Given the description of an element on the screen output the (x, y) to click on. 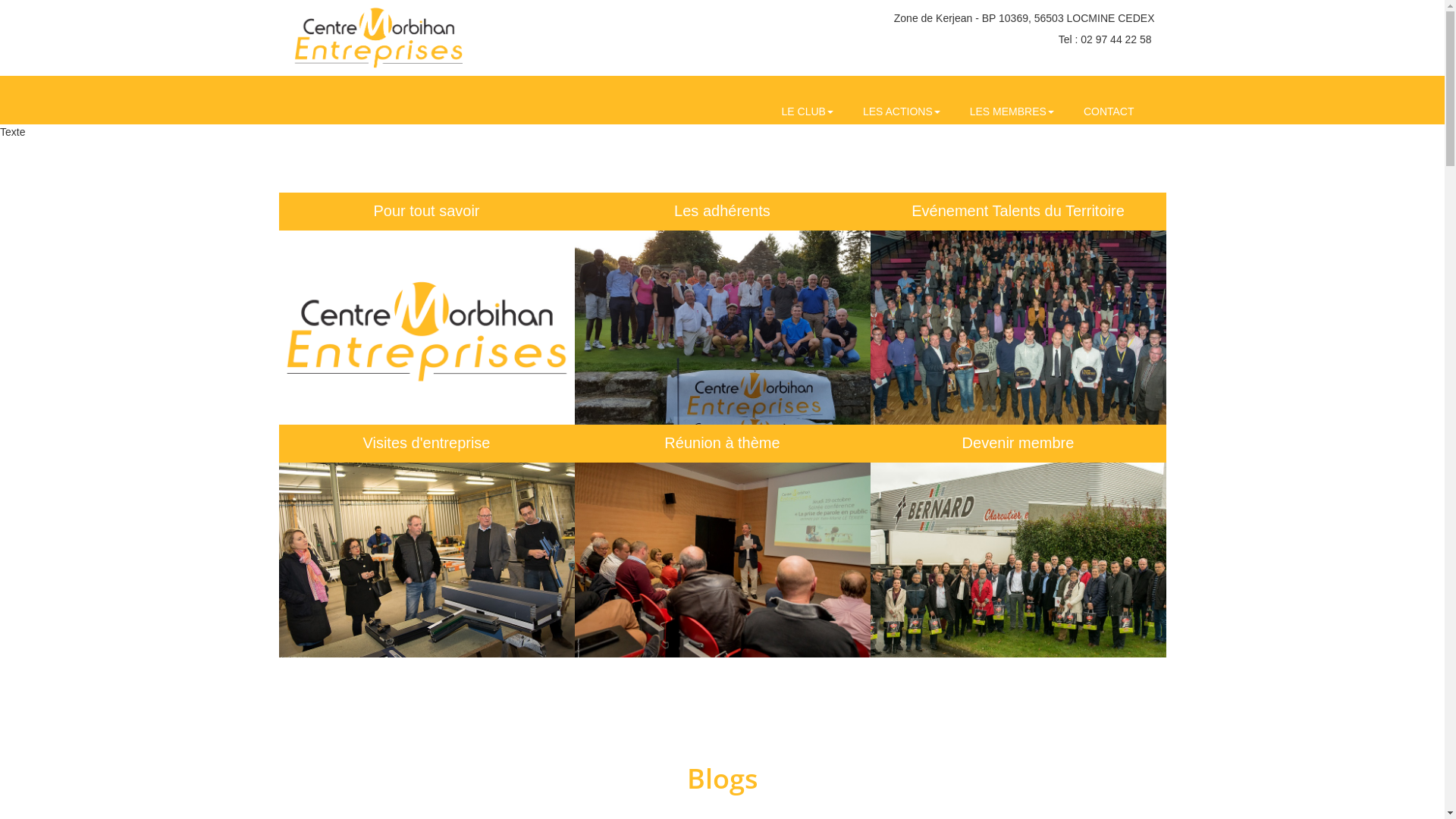
LES MEMBRES Element type: text (1011, 111)
LES ACTIONS Element type: text (901, 111)
LE CLUB Element type: text (807, 111)
CONTACT Element type: text (1108, 111)
